Given the description of an element on the screen output the (x, y) to click on. 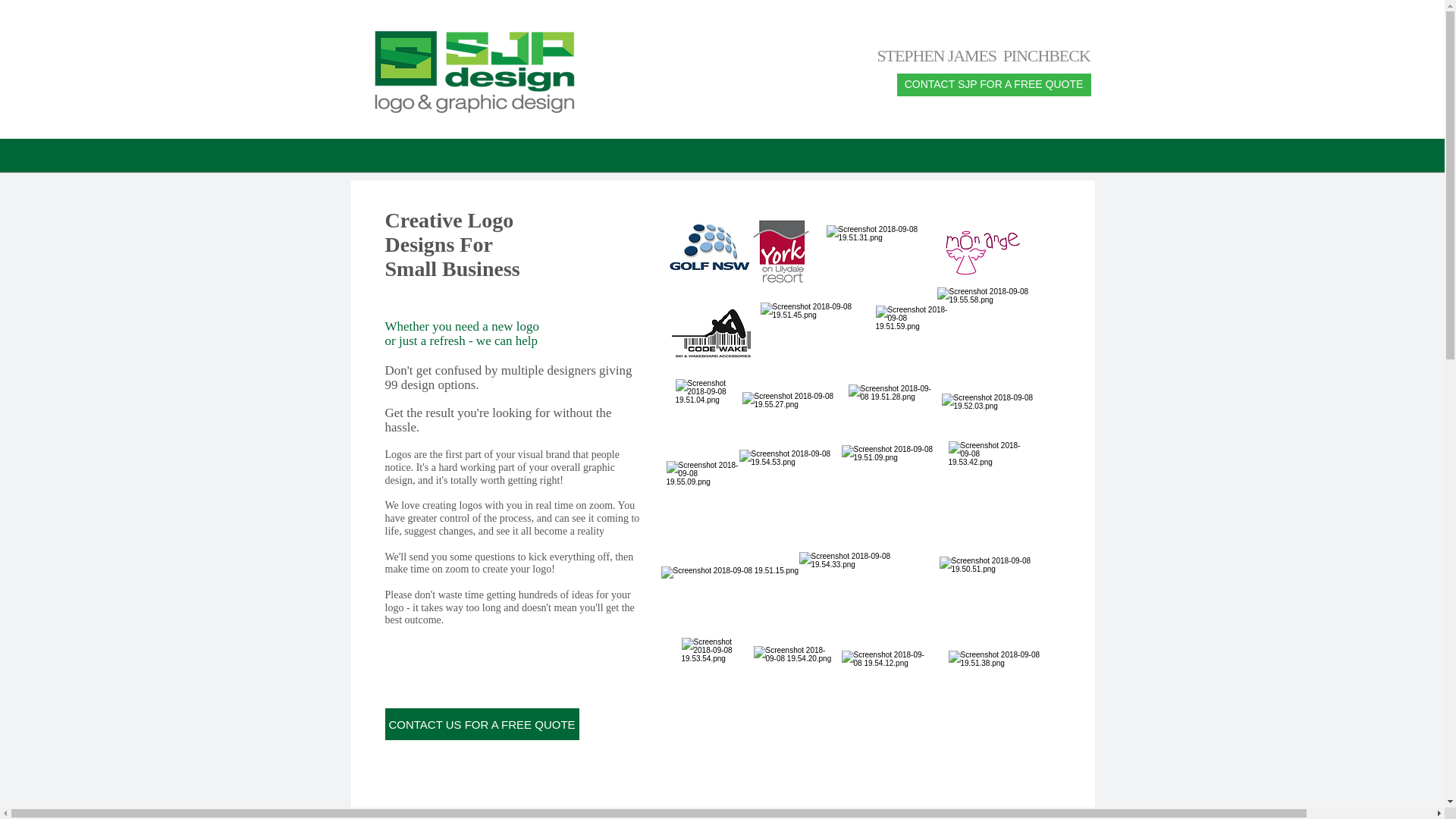
CONTACT SJP FOR A FREE QUOTE (993, 84)
CONTACT US FOR A FREE QUOTE (482, 724)
CALL NOW FOR A FREE QUOTE (478, 606)
